Given the description of an element on the screen output the (x, y) to click on. 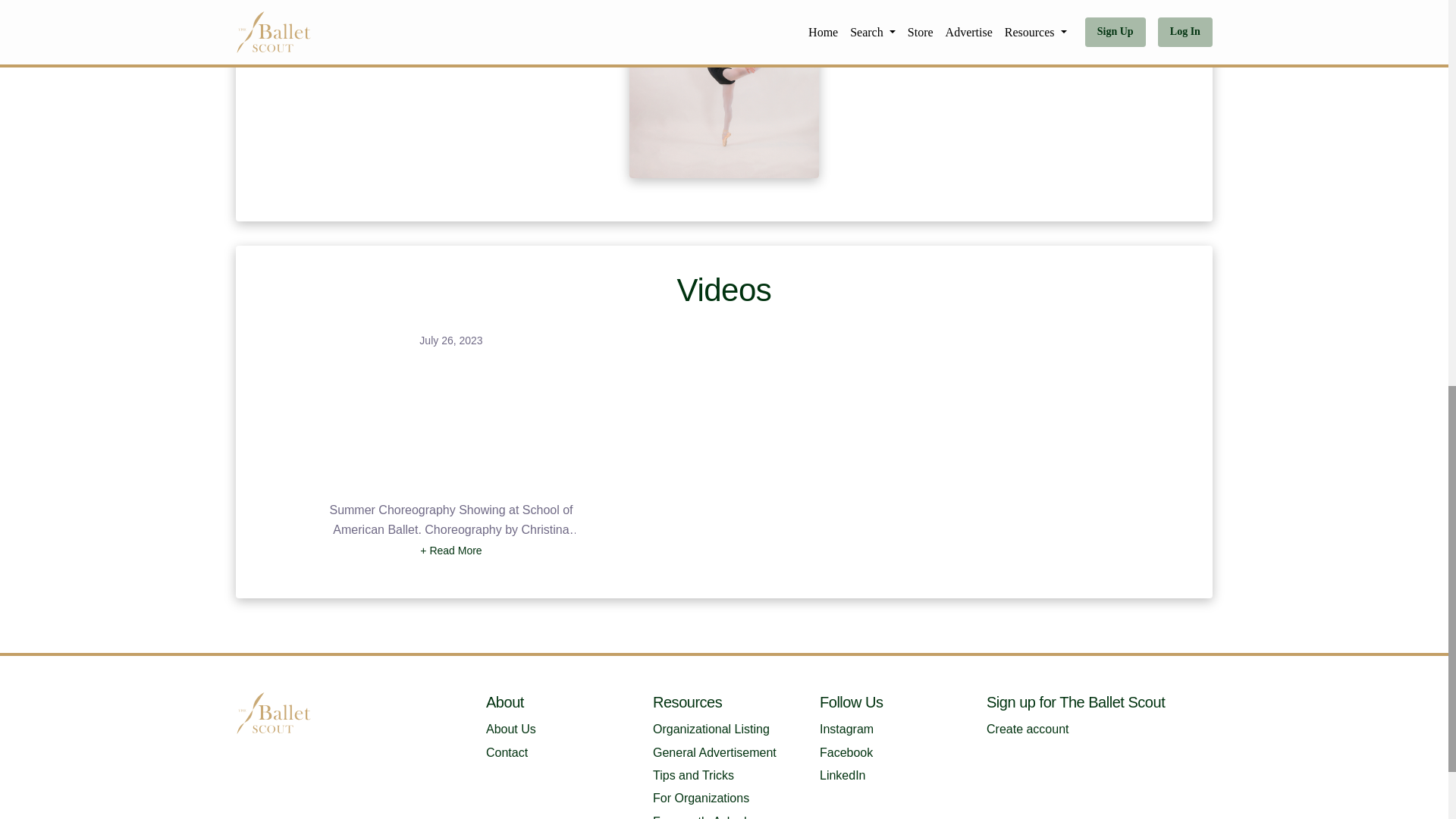
About Us (510, 728)
Organizational Listing (711, 728)
Tips and Tricks (692, 775)
Contact (506, 752)
For Organizations (700, 797)
General Advertisement (714, 752)
Frequently Asked Questions (699, 816)
